Given the description of an element on the screen output the (x, y) to click on. 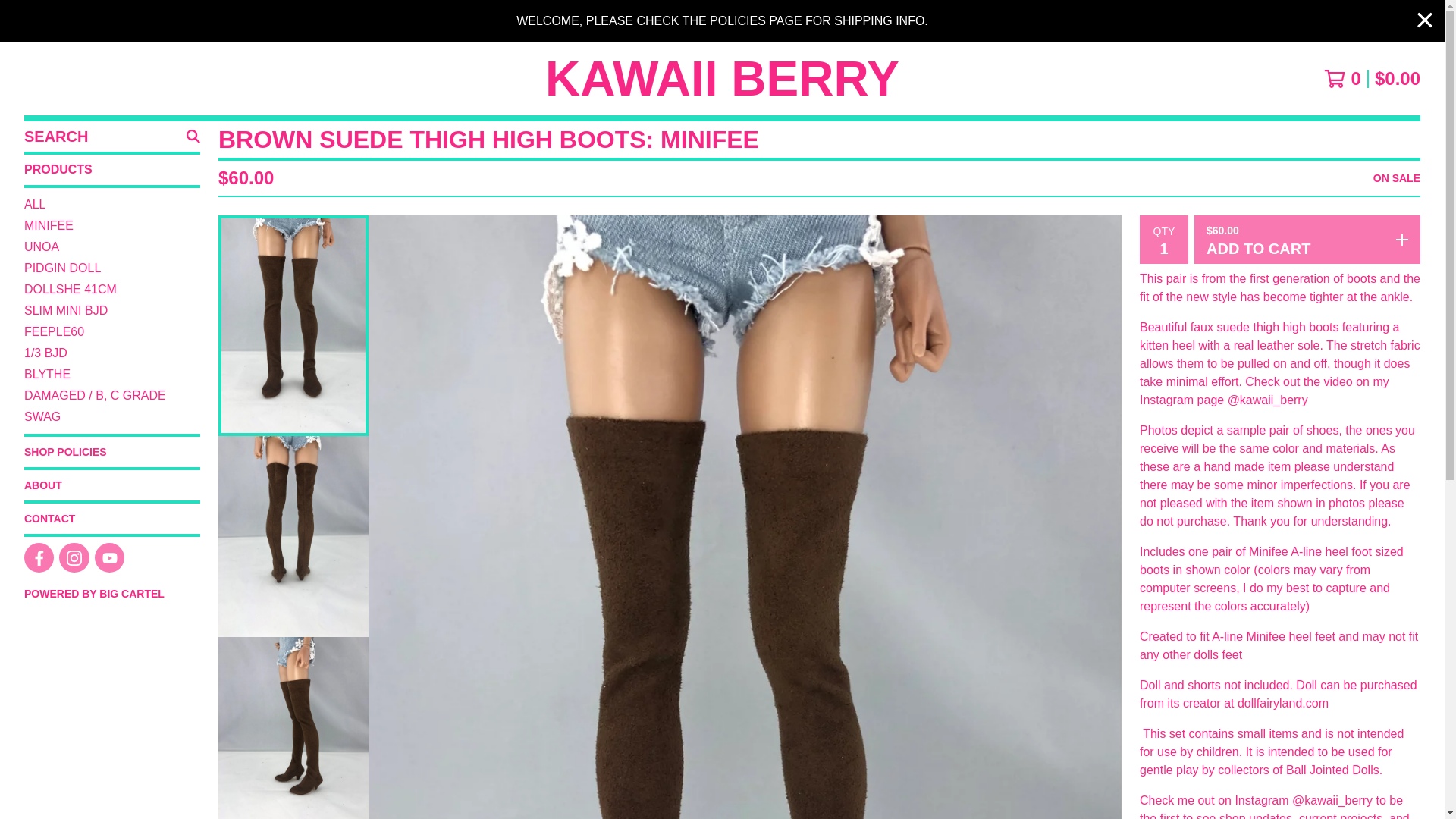
View Pidgin Doll (112, 268)
View Unoa (112, 246)
KAWAII BERRY (721, 78)
View Feeple60 (112, 332)
MINIFEE (112, 225)
View Slim Mini BJD (112, 310)
SLIM MINI BJD (112, 310)
DOLLSHE 41CM (112, 289)
PIDGIN DOLL (112, 268)
FEEPLE60 (112, 332)
POWERED BY BIG CARTEL (112, 593)
View Shop Policies (112, 451)
View cart (1372, 78)
UNOA (112, 246)
View Swag (112, 416)
